Given the description of an element on the screen output the (x, y) to click on. 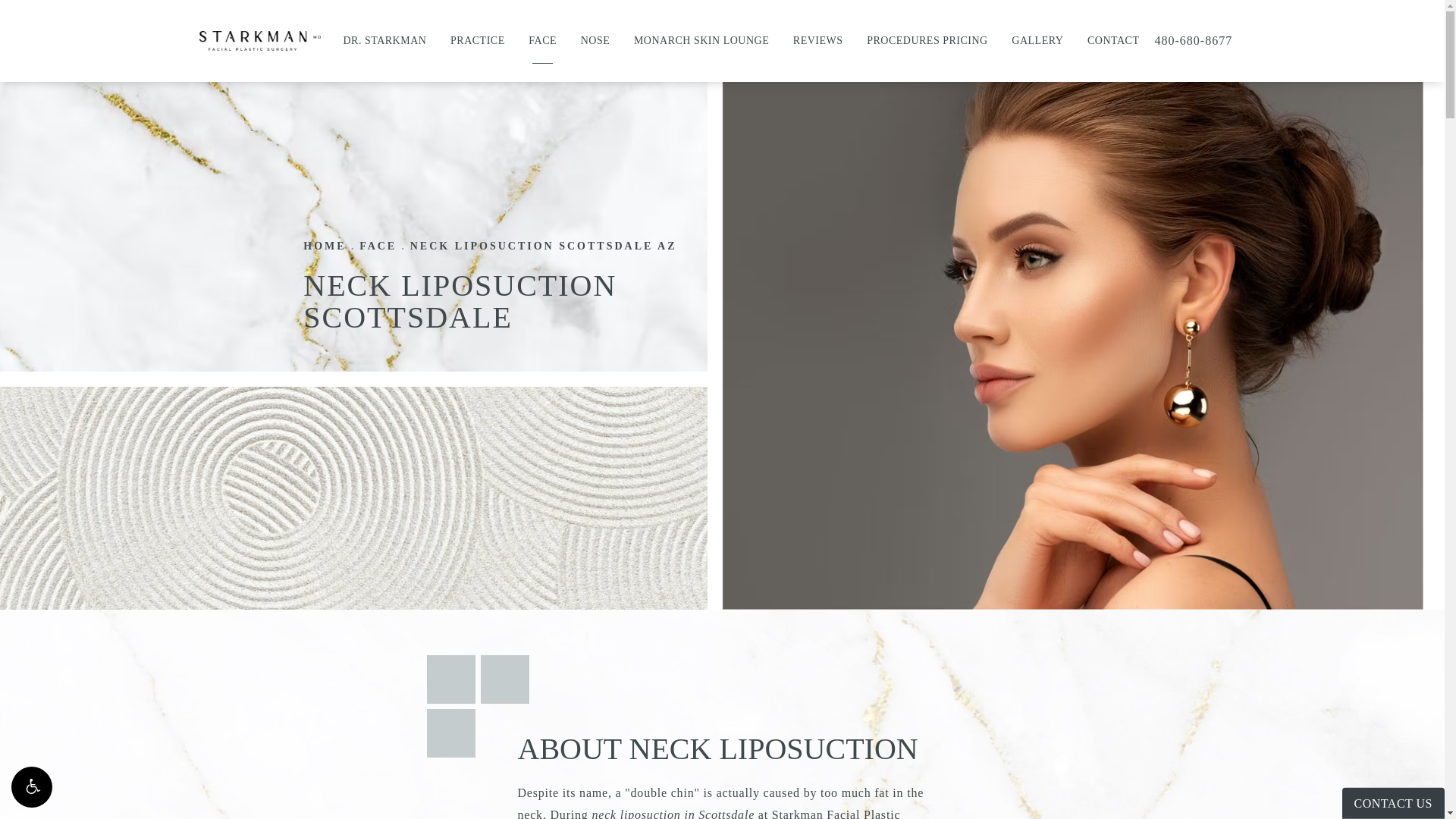
PRACTICE (477, 40)
DR. STARKMAN (384, 40)
FACE (542, 40)
